Given the description of an element on the screen output the (x, y) to click on. 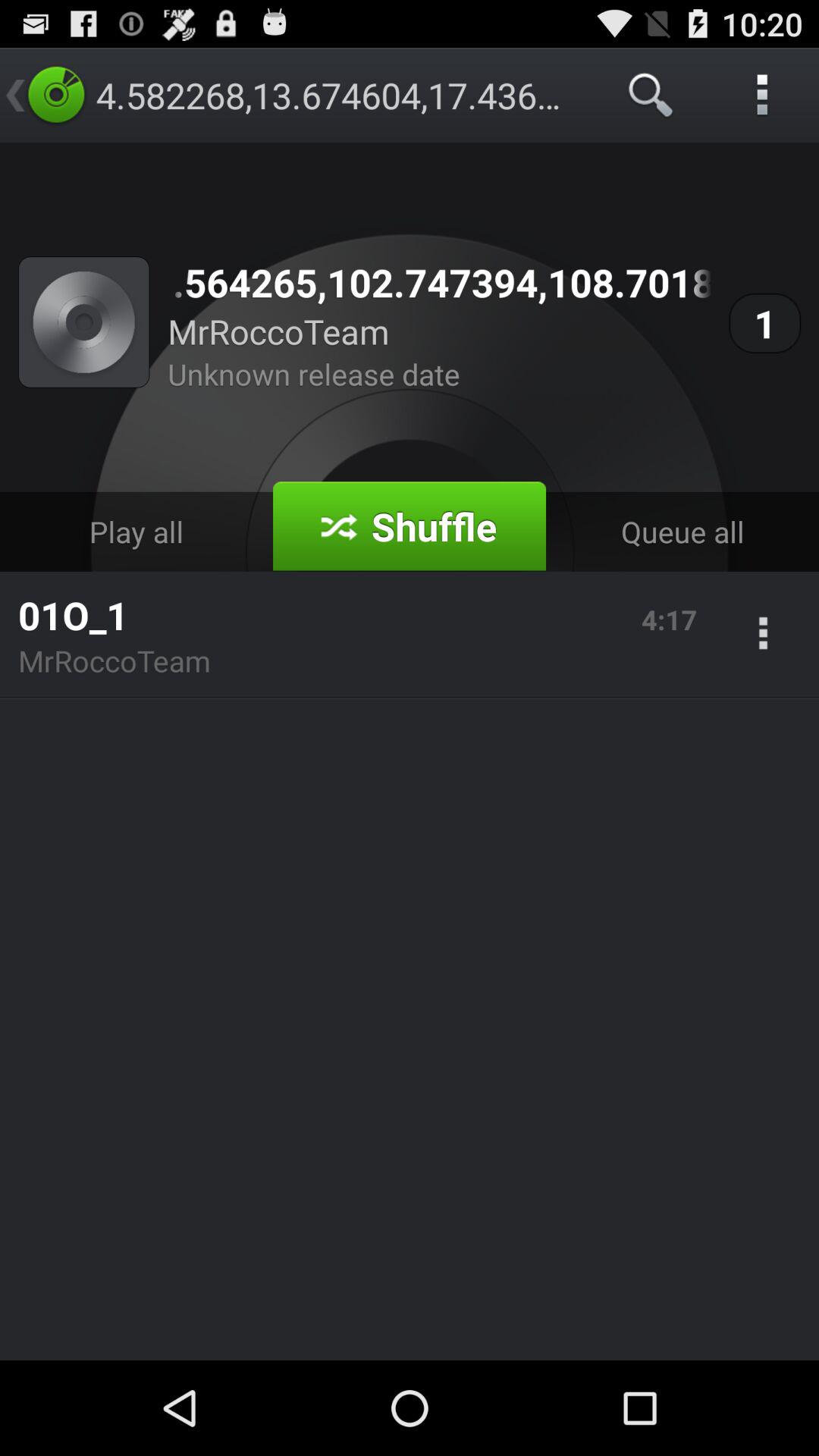
scroll to the play all item (136, 531)
